Given the description of an element on the screen output the (x, y) to click on. 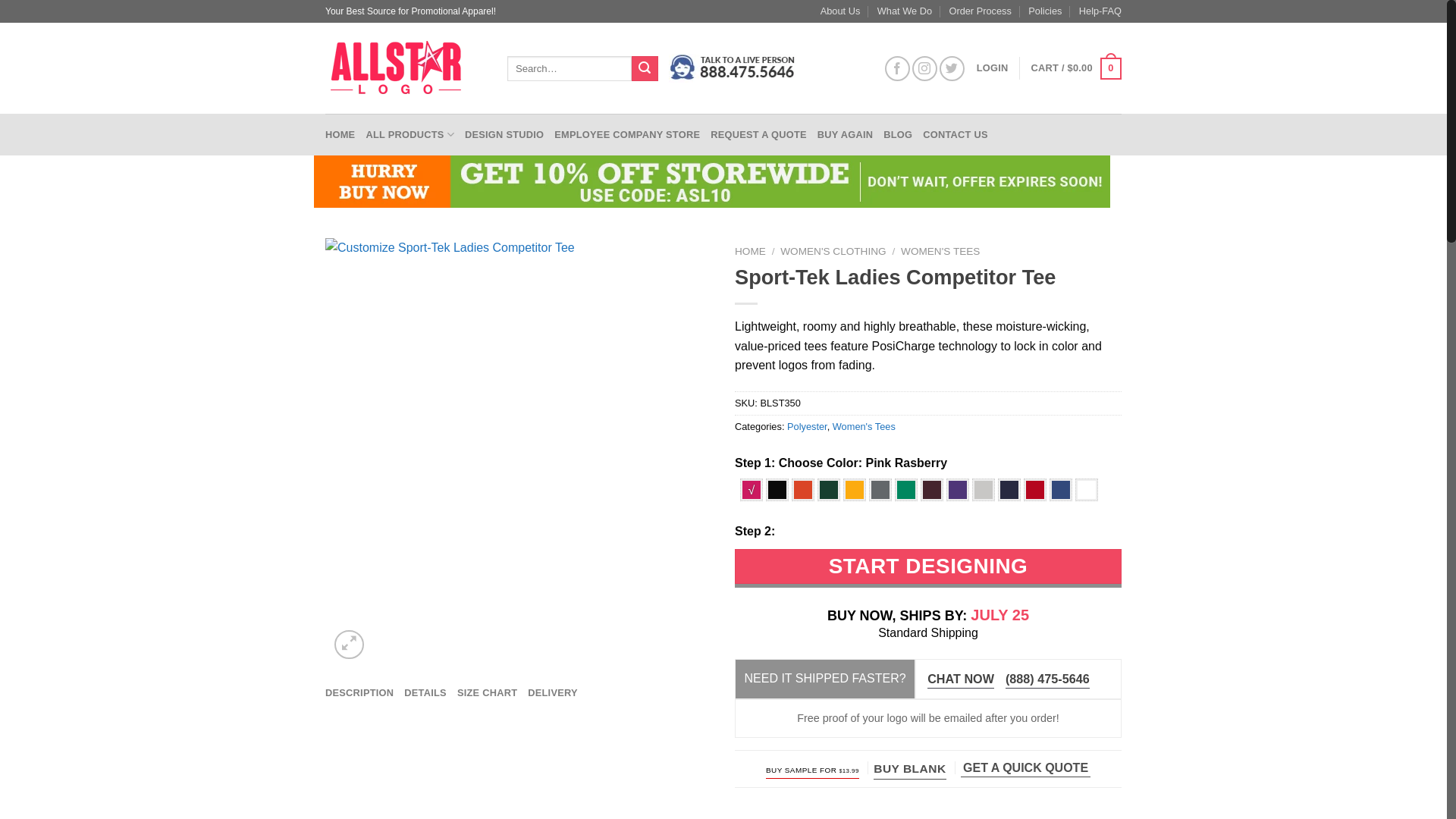
Zoom (349, 644)
Gold (854, 489)
Help-FAQ (1099, 11)
Policies (1044, 11)
ALL PRODUCTS (409, 134)
What We Do (904, 11)
Order Process (980, 11)
LOGIN (992, 67)
Search (644, 68)
Follow on Facebook (897, 68)
Black (777, 489)
HOME (339, 134)
AllStar Logo - Your Best Source for Promotional Apparel (404, 67)
Cart (1075, 68)
Follow on Twitter (951, 68)
